Given the description of an element on the screen output the (x, y) to click on. 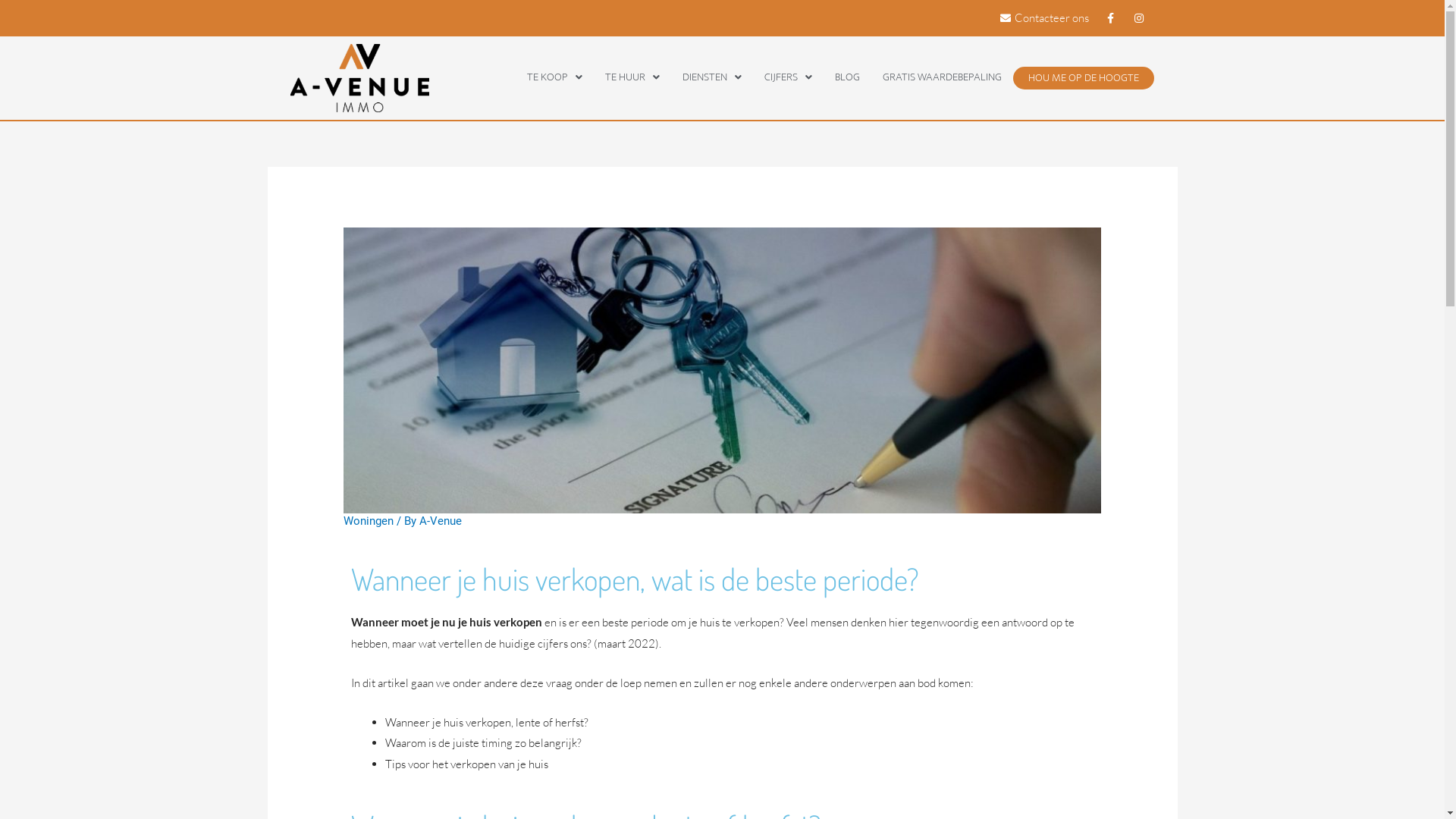
DIENSTEN Element type: text (712, 76)
Woningen Element type: text (368, 520)
TE HUUR Element type: text (632, 76)
HOU ME OP DE HOOGTE Element type: text (1083, 77)
Contacteer ons Element type: text (1042, 17)
TE KOOP Element type: text (554, 76)
BLOG Element type: text (847, 76)
A-Venue Element type: text (440, 520)
GRATIS WAARDEBEPALING Element type: text (942, 76)
CIJFERS Element type: text (788, 76)
